Given the description of an element on the screen output the (x, y) to click on. 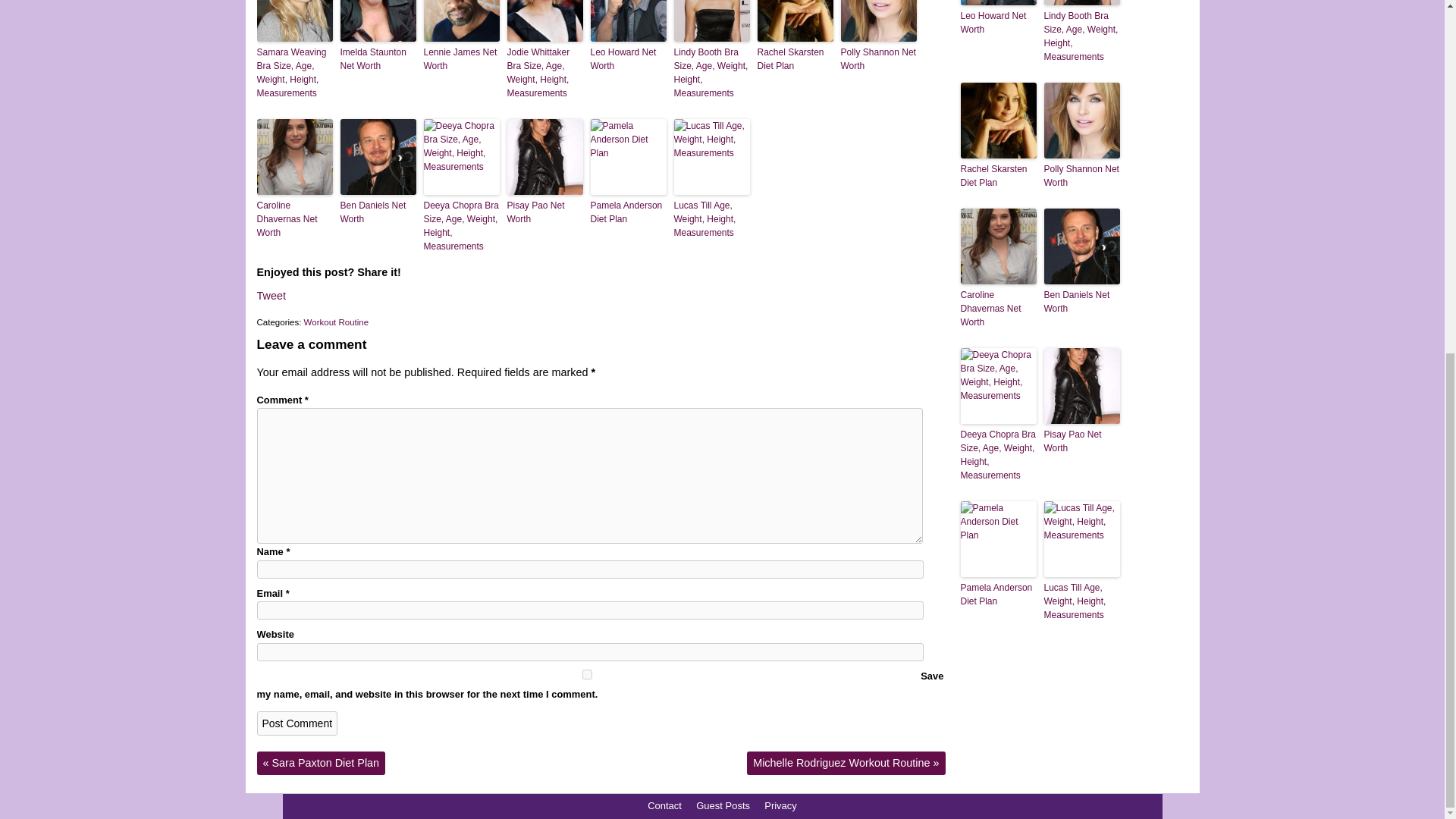
Leo Howard Net Worth (627, 58)
Lennie James Net Worth (461, 58)
Jodie Whittaker Bra Size, Age, Weight, Height, Measurements (544, 72)
Imelda Staunton Net Worth (376, 58)
yes (586, 674)
Caroline Dhavernas Net Worth (293, 219)
Samara Weaving Bra Size, Age, Weight, Height, Measurements (293, 72)
Lindy Booth Bra Size, Age, Weight, Height, Measurements (710, 72)
Rachel Skarsten Diet Plan (794, 58)
Post Comment (296, 723)
